Given the description of an element on the screen output the (x, y) to click on. 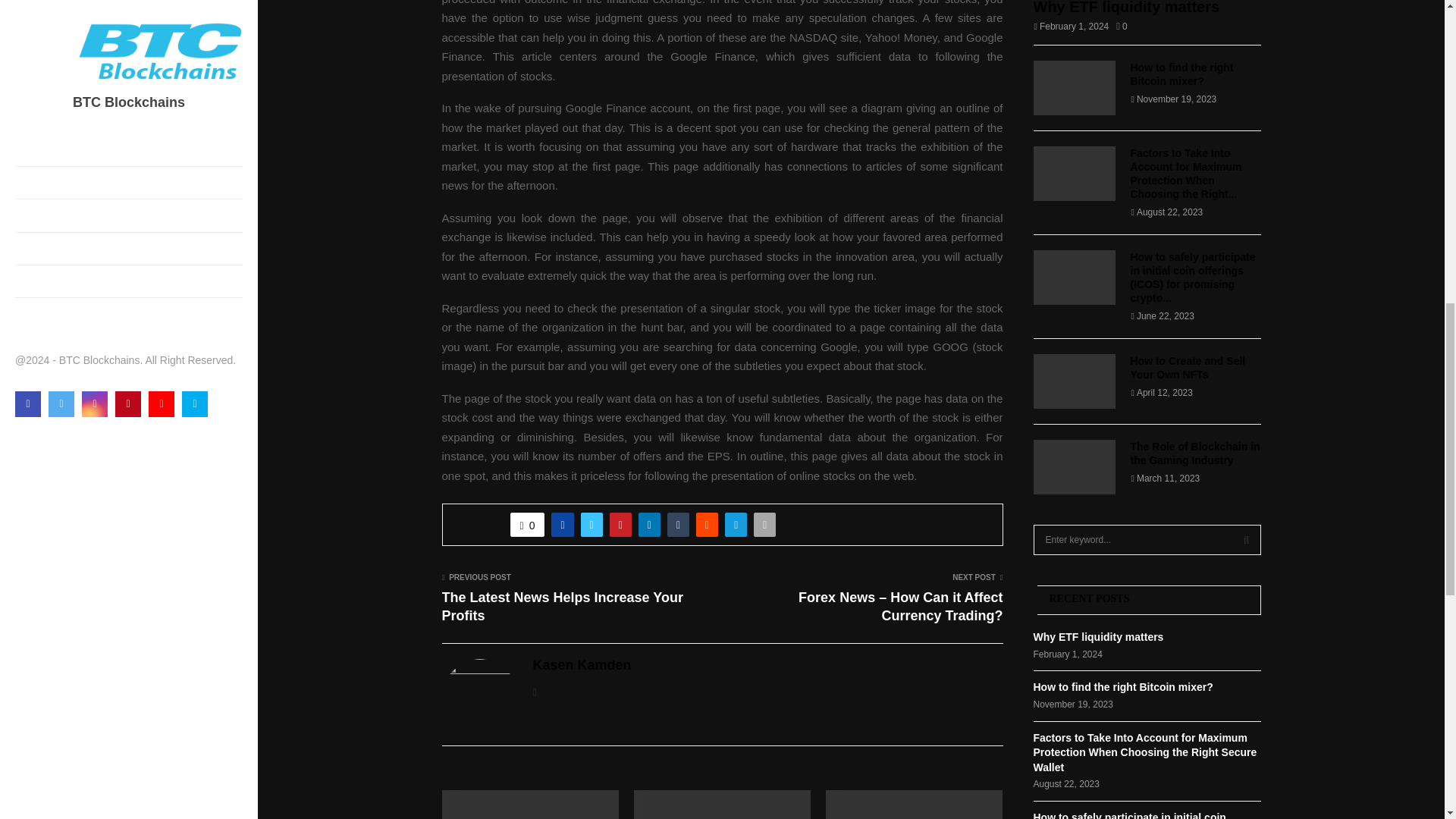
The Latest News Helps Increase Your Profits (561, 606)
0 (527, 524)
Like (527, 524)
